Given the description of an element on the screen output the (x, y) to click on. 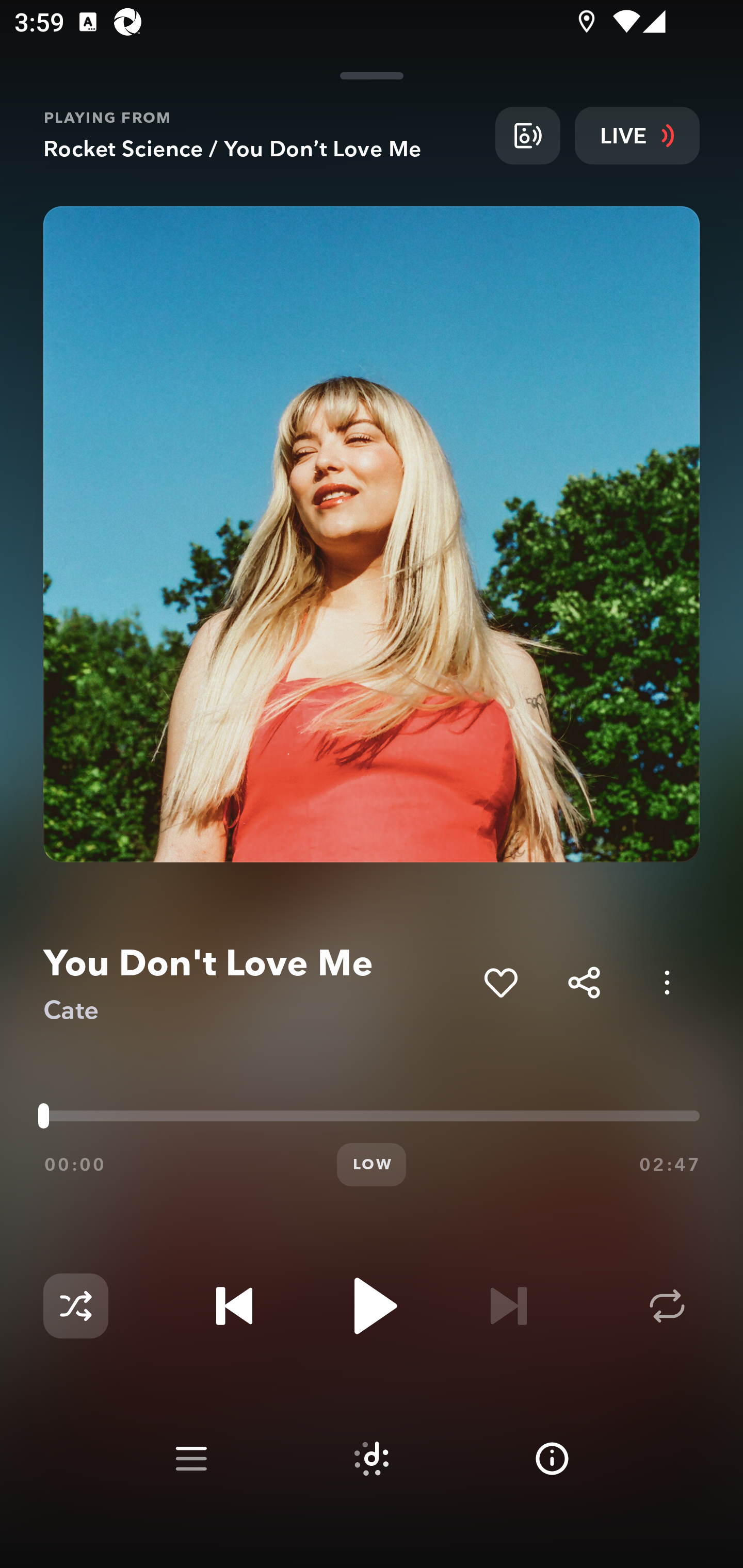
Broadcast (527, 135)
LIVE (637, 135)
PLAYING FROM Rocket Science / You Don’t Love Me (261, 135)
You Don't Love Me Cate (255, 983)
Add to My Collection (500, 982)
Share (583, 982)
Options (666, 982)
LOW (371, 1164)
Play (371, 1306)
Previous (234, 1306)
Next (508, 1306)
Shuffle enabled (75, 1306)
Repeat Off (666, 1306)
Play queue (191, 1458)
Suggested tracks (371, 1458)
Info (551, 1458)
